Given the description of an element on the screen output the (x, y) to click on. 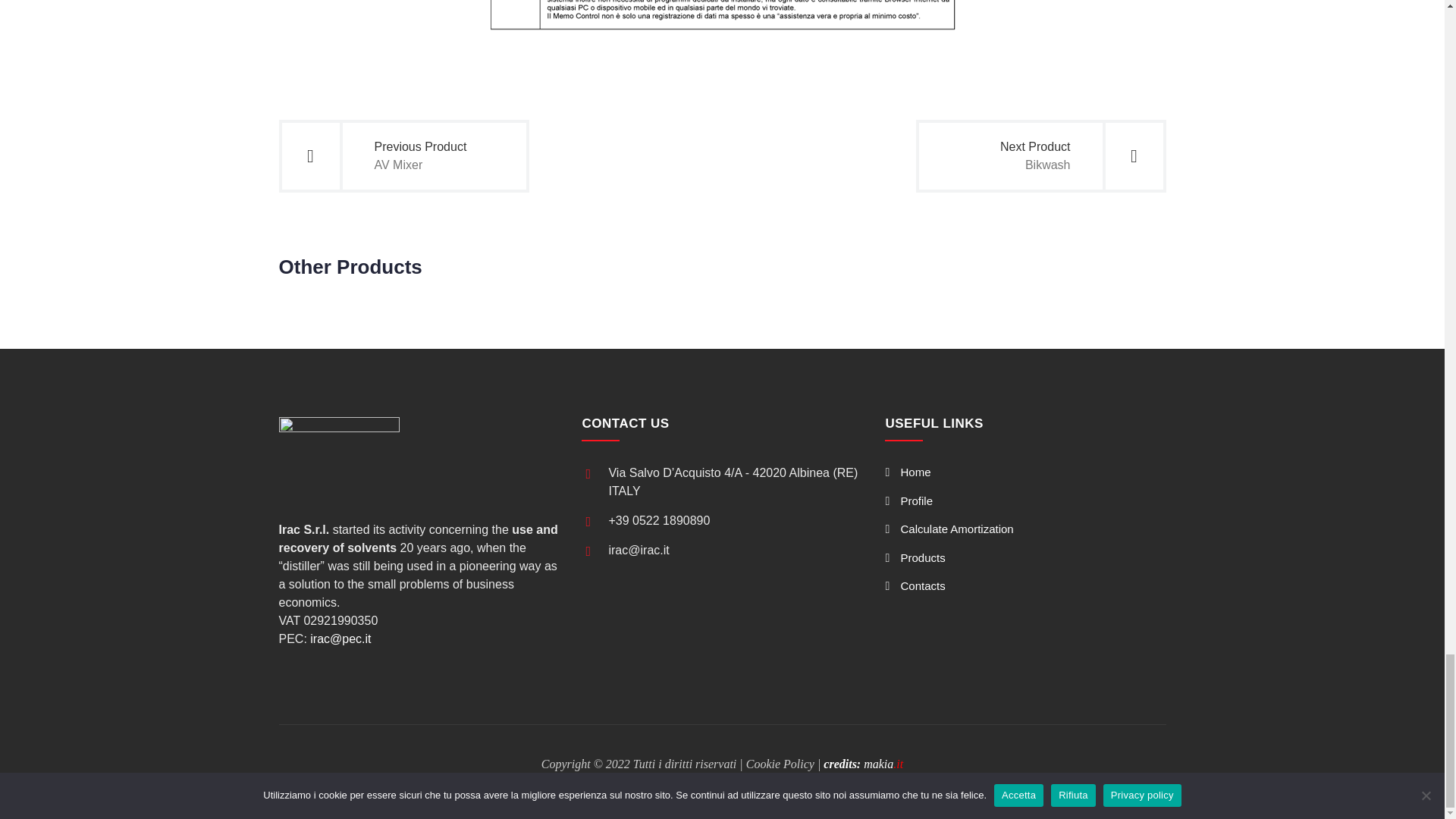
Home (907, 472)
Contacts (914, 585)
Products (1040, 155)
Calculate Amortization (914, 557)
Profile (949, 528)
credits: makia.it (909, 500)
Cookie Policy (863, 763)
